Given the description of an element on the screen output the (x, y) to click on. 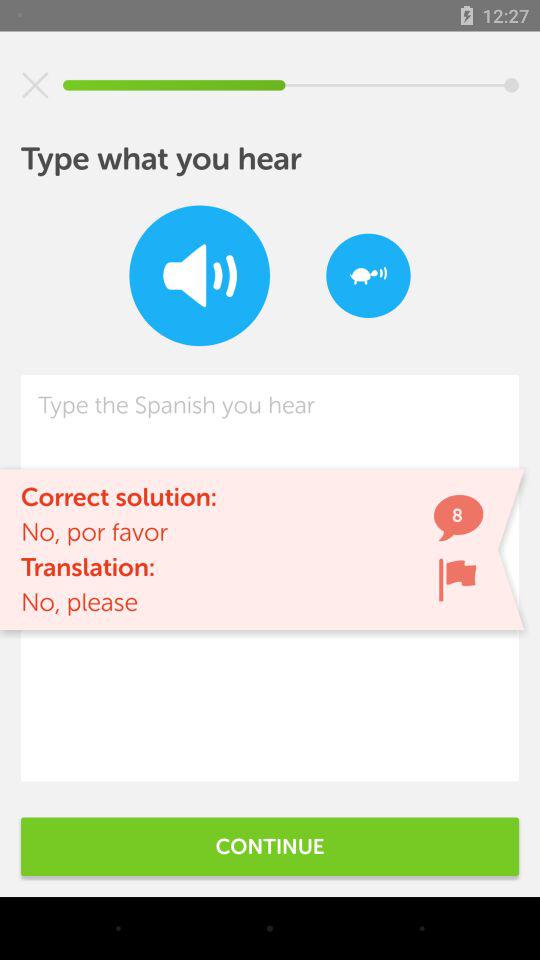
click out of this screen (35, 85)
